Given the description of an element on the screen output the (x, y) to click on. 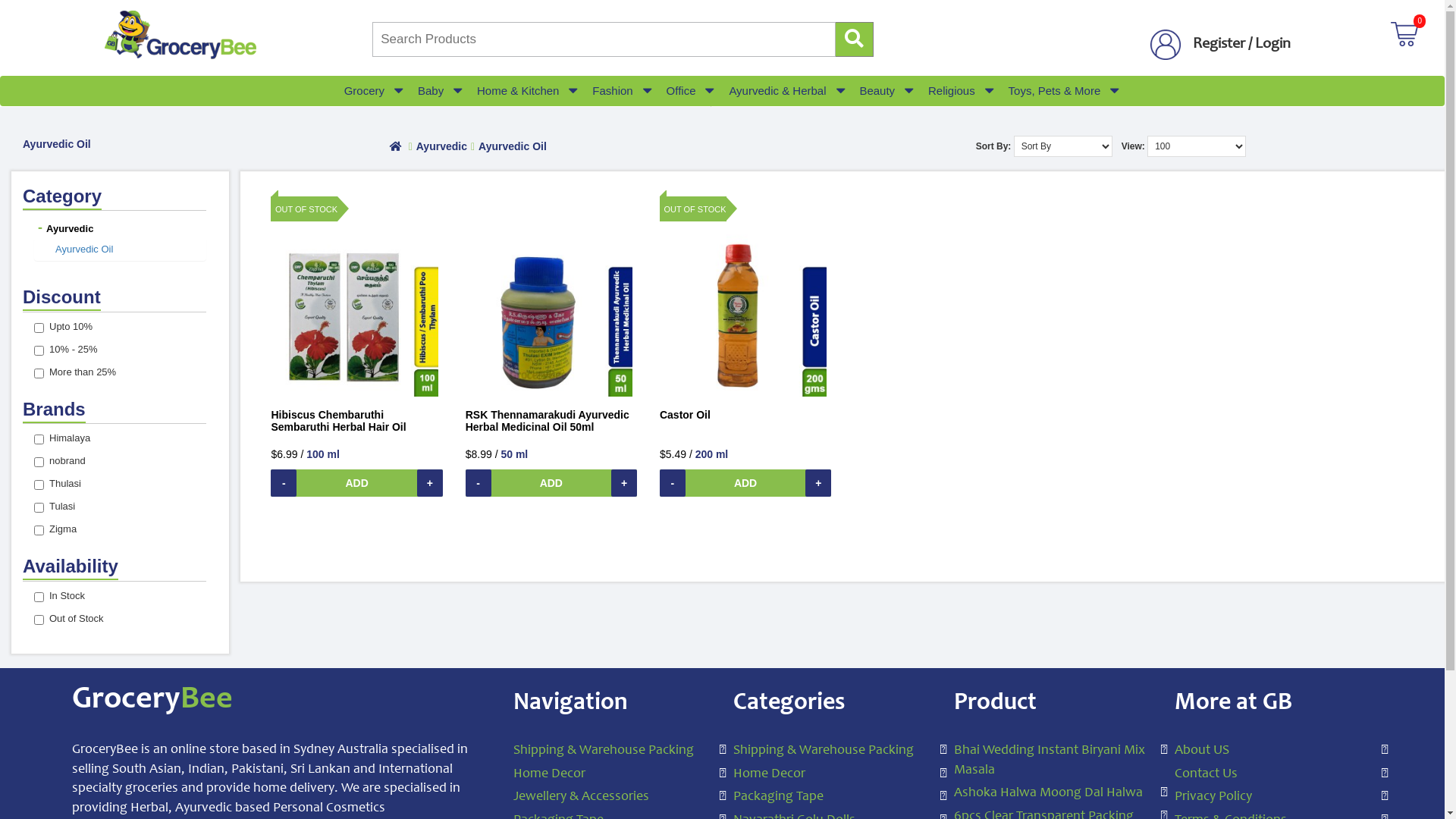
Jewellery & Accessories Element type: text (612, 797)
Privacy Policy Element type: text (1273, 797)
Castor Oil Element type: hover (745, 295)
Religious Element type: text (951, 90)
Toys, Pets & More Element type: text (1054, 90)
Home & Kitchen Element type: text (517, 90)
Hibiscus Chembaruthi Sembaruthi Herbal Hair Oil Element type: text (356, 423)
Contact Us Element type: text (1273, 774)
Ayurvedic Element type: text (63, 228)
Ayurvedic Oil Element type: text (83, 248)
Home Decor Element type: text (832, 774)
Ashoka Halwa Moong Dal Halwa Element type: text (1052, 793)
Fashion Element type: text (612, 90)
RSK Thennamarakudi Ayurvedic Herbal Medicinal Oil 50ml Element type: text (551, 423)
Shipping & Warehouse Packing Element type: text (832, 751)
Hibiscus Chembaruthi Sembaruthi Herbal Hair Oil Element type: hover (356, 295)
Beauty Element type: text (877, 90)
Baby Element type: text (430, 90)
Castor Oil Element type: text (684, 423)
Packaging Tape Element type: text (832, 797)
Grocery Element type: text (364, 90)
Shipping & Warehouse Packing Element type: text (612, 751)
Ayurvedic Oil Element type: text (512, 146)
Ayurvedic & Herbal Element type: text (776, 90)
Home Decor Element type: text (612, 774)
RSK Thennamarakudi Ayurvedic Herbal Medicinal Oil 50ml Element type: hover (551, 295)
Office Element type: text (681, 90)
Bhai Wedding Instant Biryani Mix Masala Element type: text (1052, 760)
About US Element type: text (1273, 751)
Ayurvedic Element type: text (441, 146)
